Given the description of an element on the screen output the (x, y) to click on. 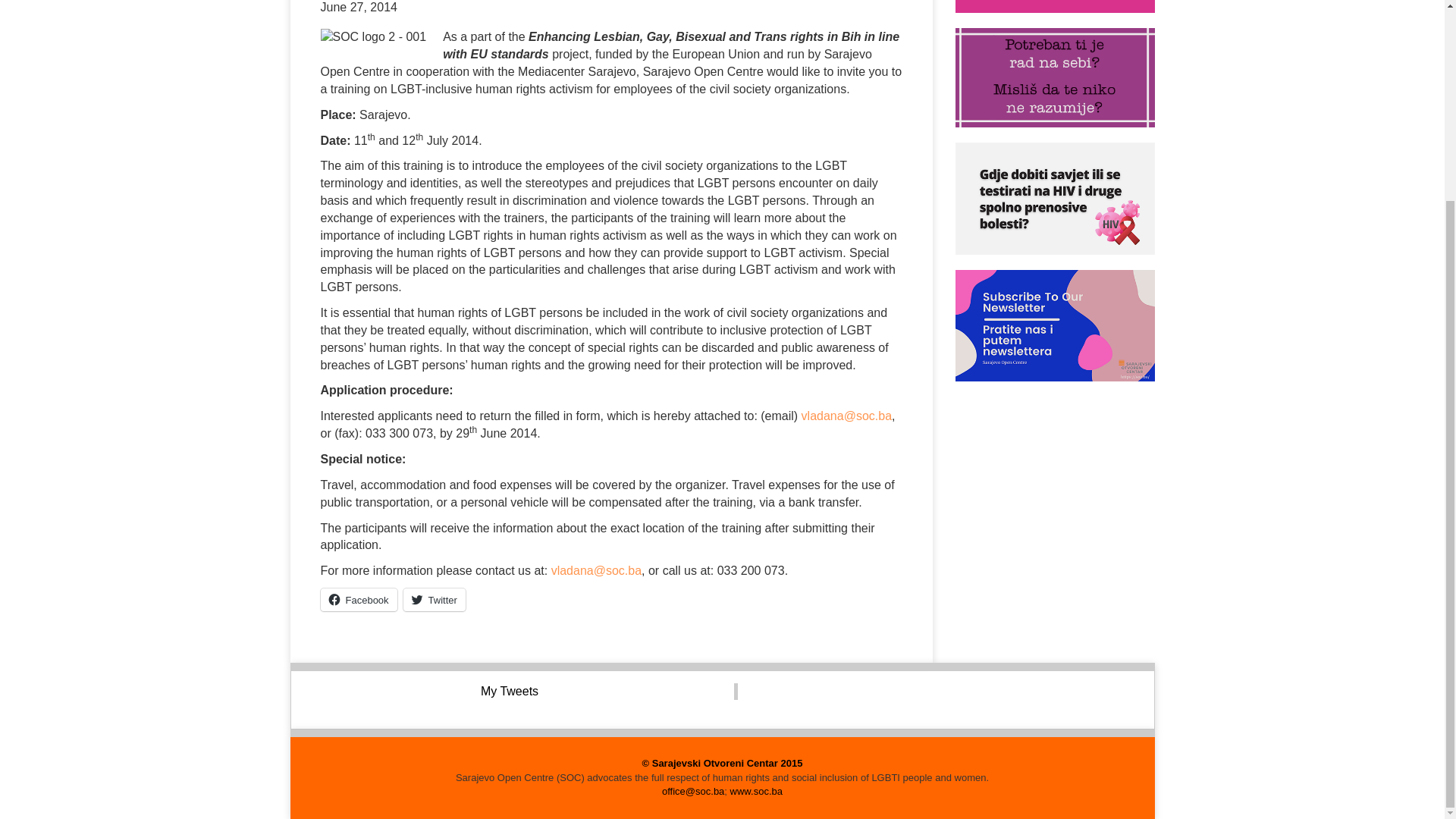
Sarajevski Otvoreni Centar (722, 763)
Click to share on Facebook (358, 599)
Click to share on Twitter (434, 599)
